Given the description of an element on the screen output the (x, y) to click on. 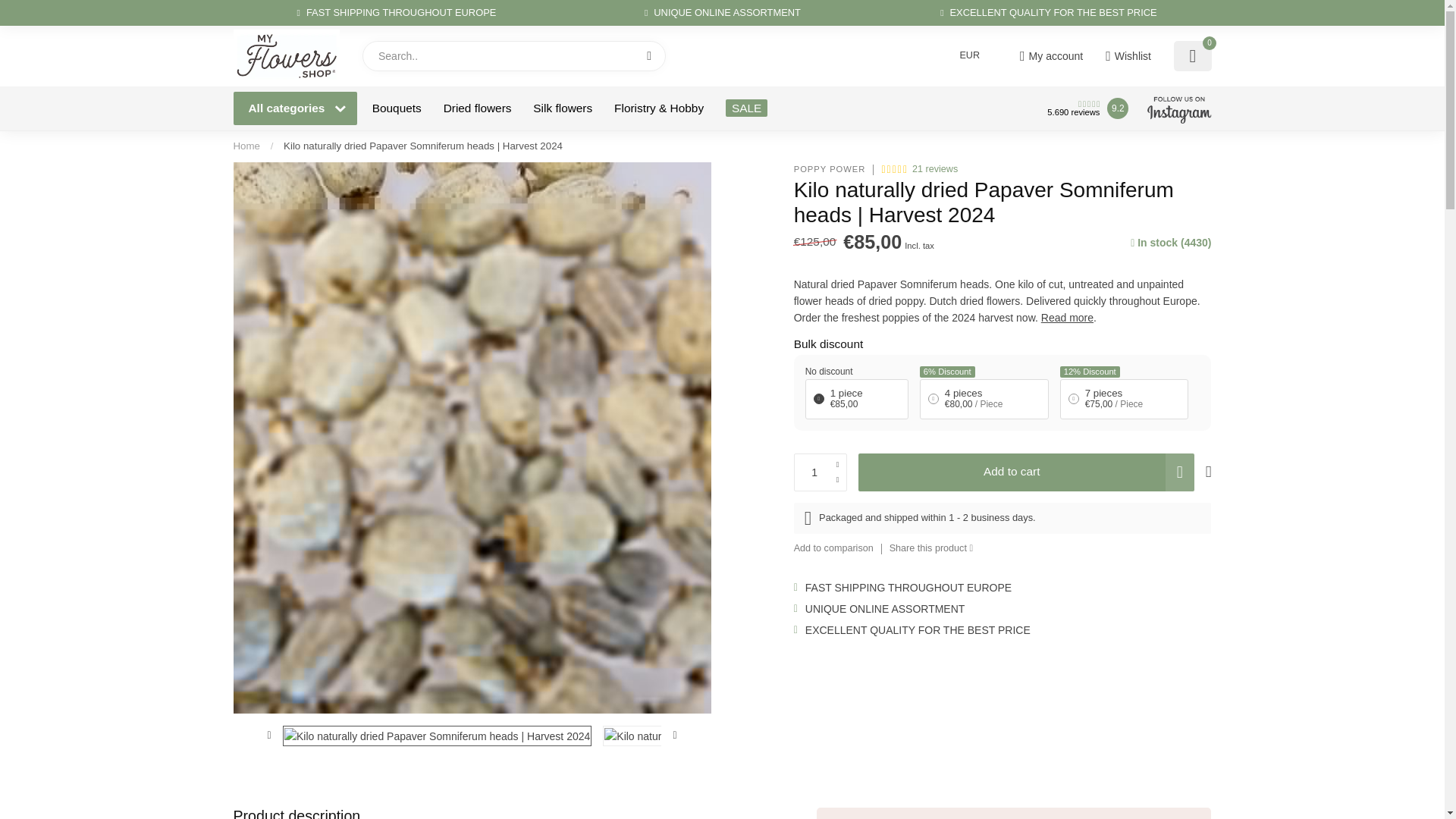
1 (820, 472)
Home (246, 145)
Wishlist (1128, 55)
Wishlist (1128, 55)
0 (1192, 55)
My account (1051, 55)
